Given the description of an element on the screen output the (x, y) to click on. 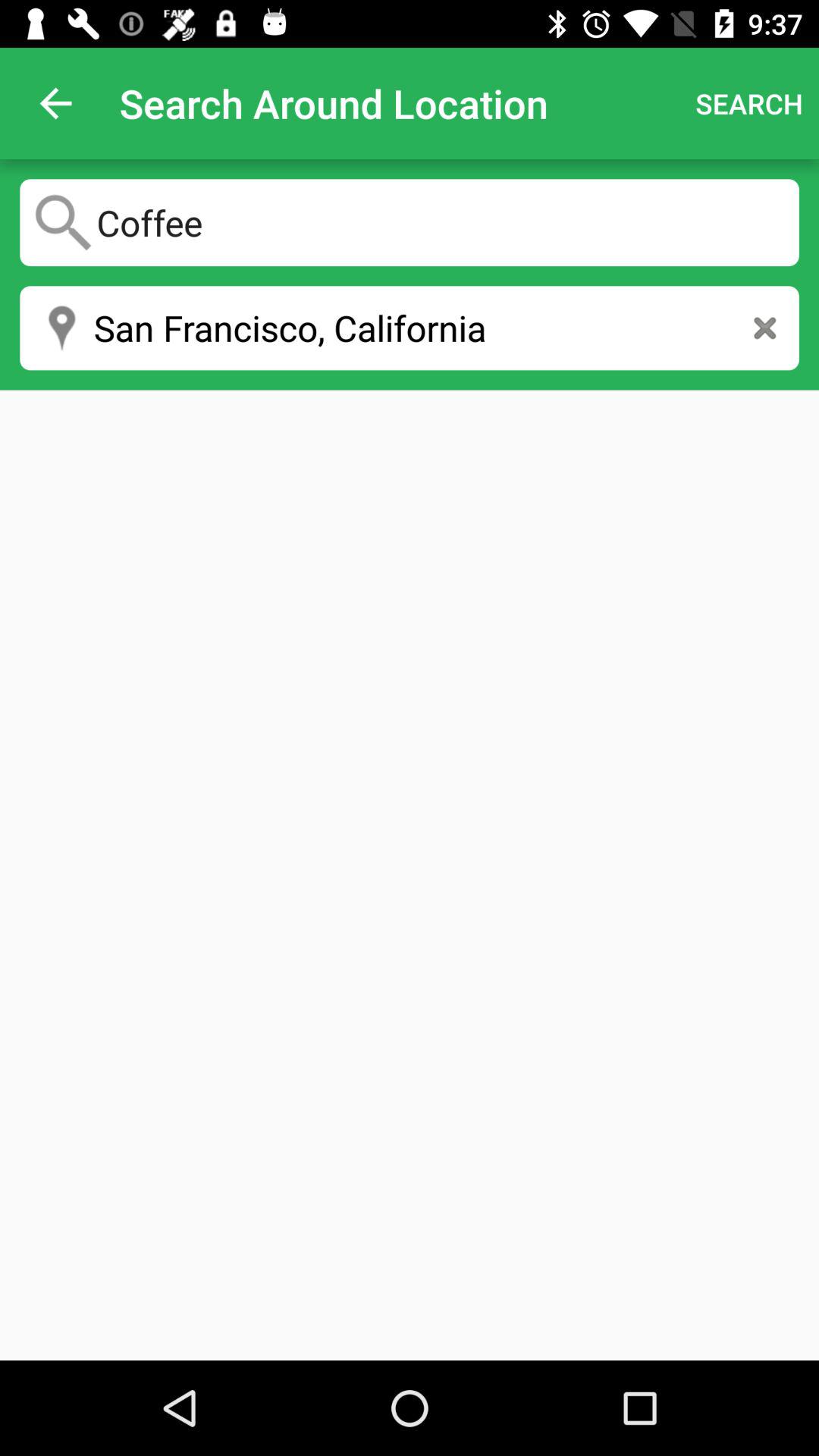
select the item above coffee item (55, 103)
